Given the description of an element on the screen output the (x, y) to click on. 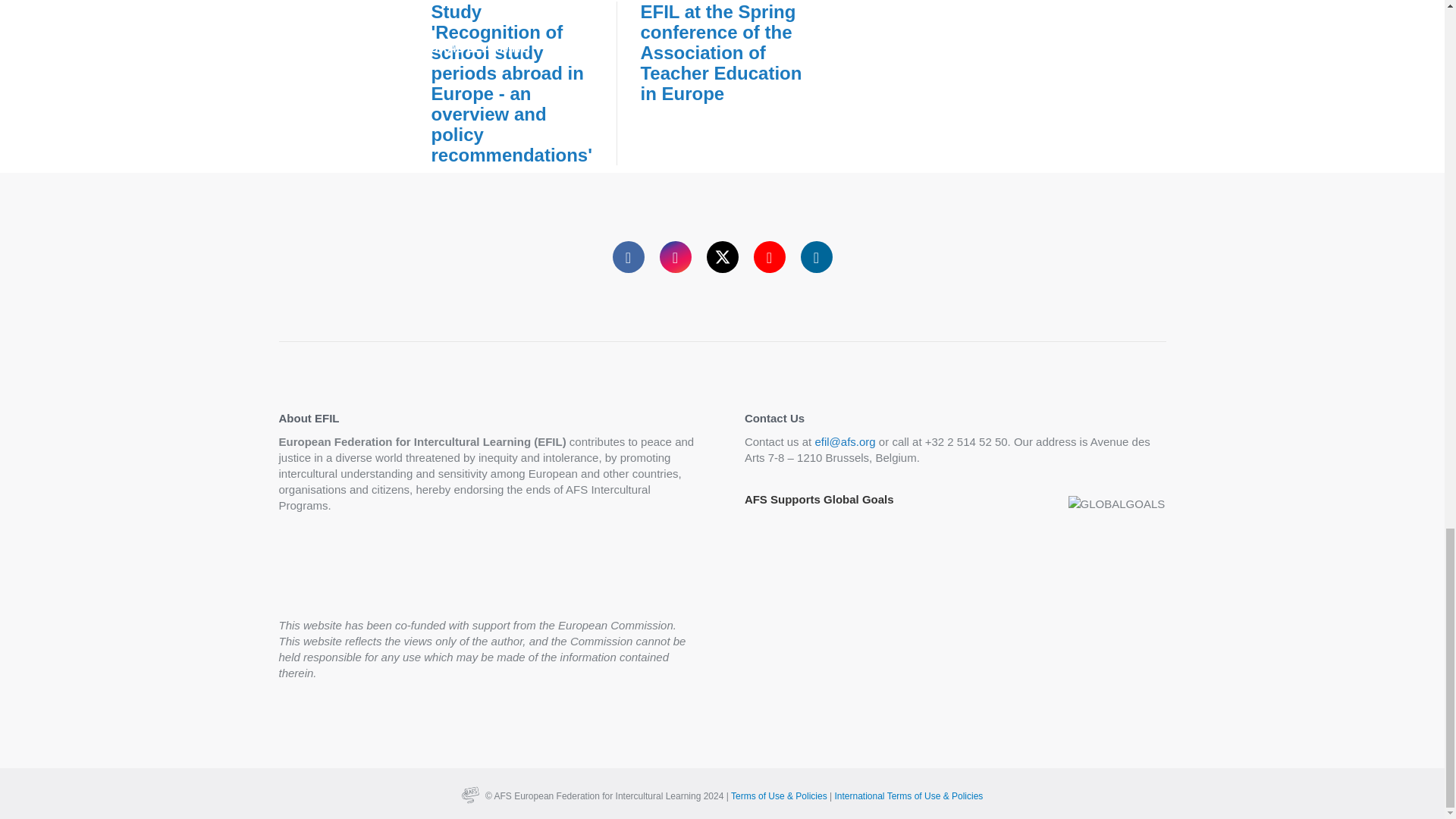
Instagram (675, 256)
European Federation for Intercultural Learning (608, 796)
YouTube (770, 256)
LinkedIn (816, 256)
Facebook (628, 256)
Twitter (722, 256)
